Given the description of an element on the screen output the (x, y) to click on. 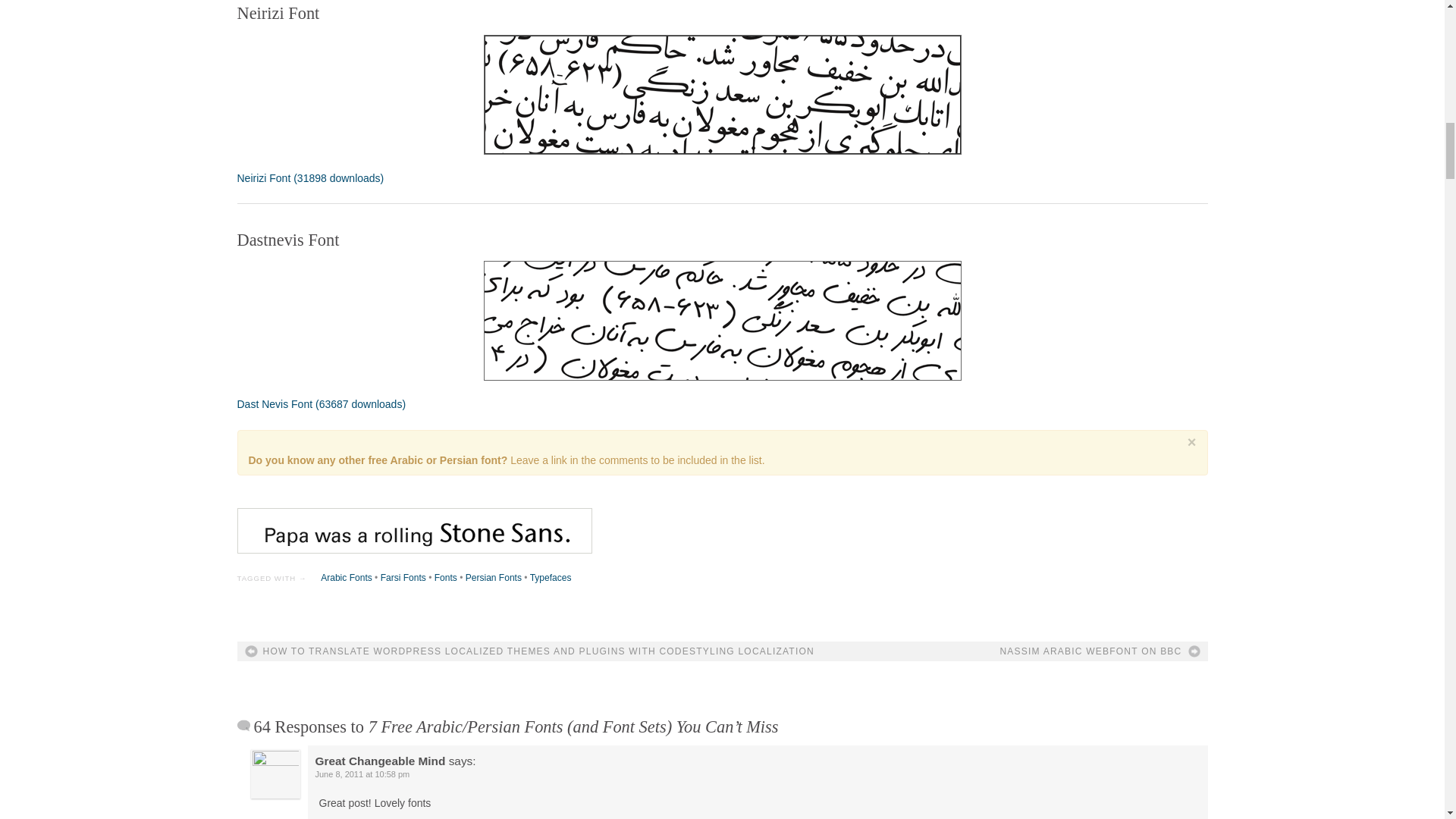
Persian Fonts (493, 577)
Version v4 (309, 177)
Farsi Fonts (403, 577)
Fonts (445, 577)
Version 3.0 (320, 404)
June 8, 2011 at 10:58 pm (362, 773)
Arabic Fonts (346, 577)
NASSIM ARABIC WEBFONT ON BBC (1098, 651)
Typefaces (550, 577)
neirizi (721, 94)
dastnevis (721, 320)
